Given the description of an element on the screen output the (x, y) to click on. 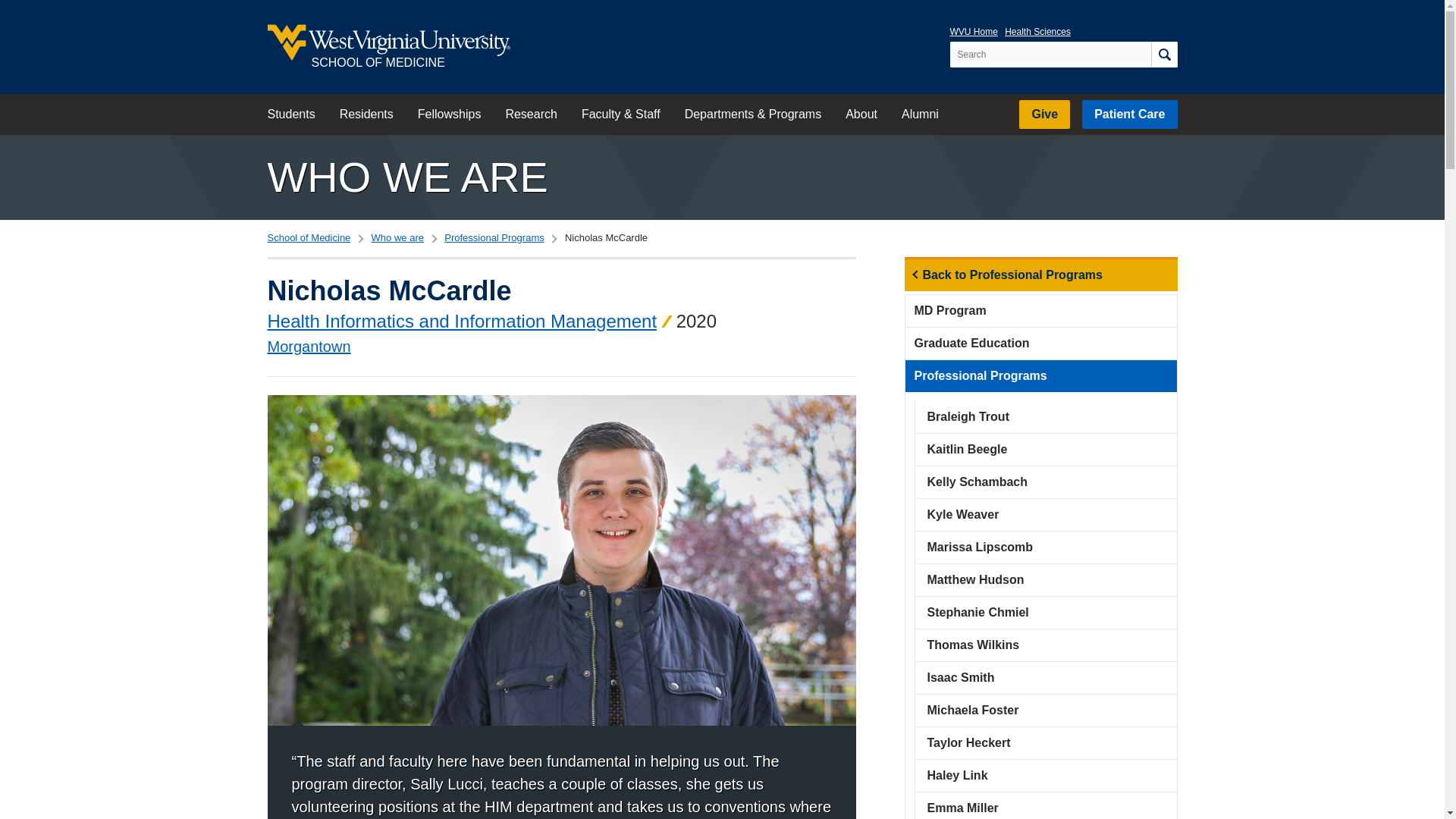
Professional Programs (494, 237)
Kaitlin Beegle (1045, 450)
Kelly Schambach (1045, 481)
About (860, 114)
Back to Professional Programs (1040, 274)
School of Medicine (308, 237)
Give (1044, 113)
Braleigh Trout (1045, 417)
Students (290, 114)
Residents (366, 114)
